Given the description of an element on the screen output the (x, y) to click on. 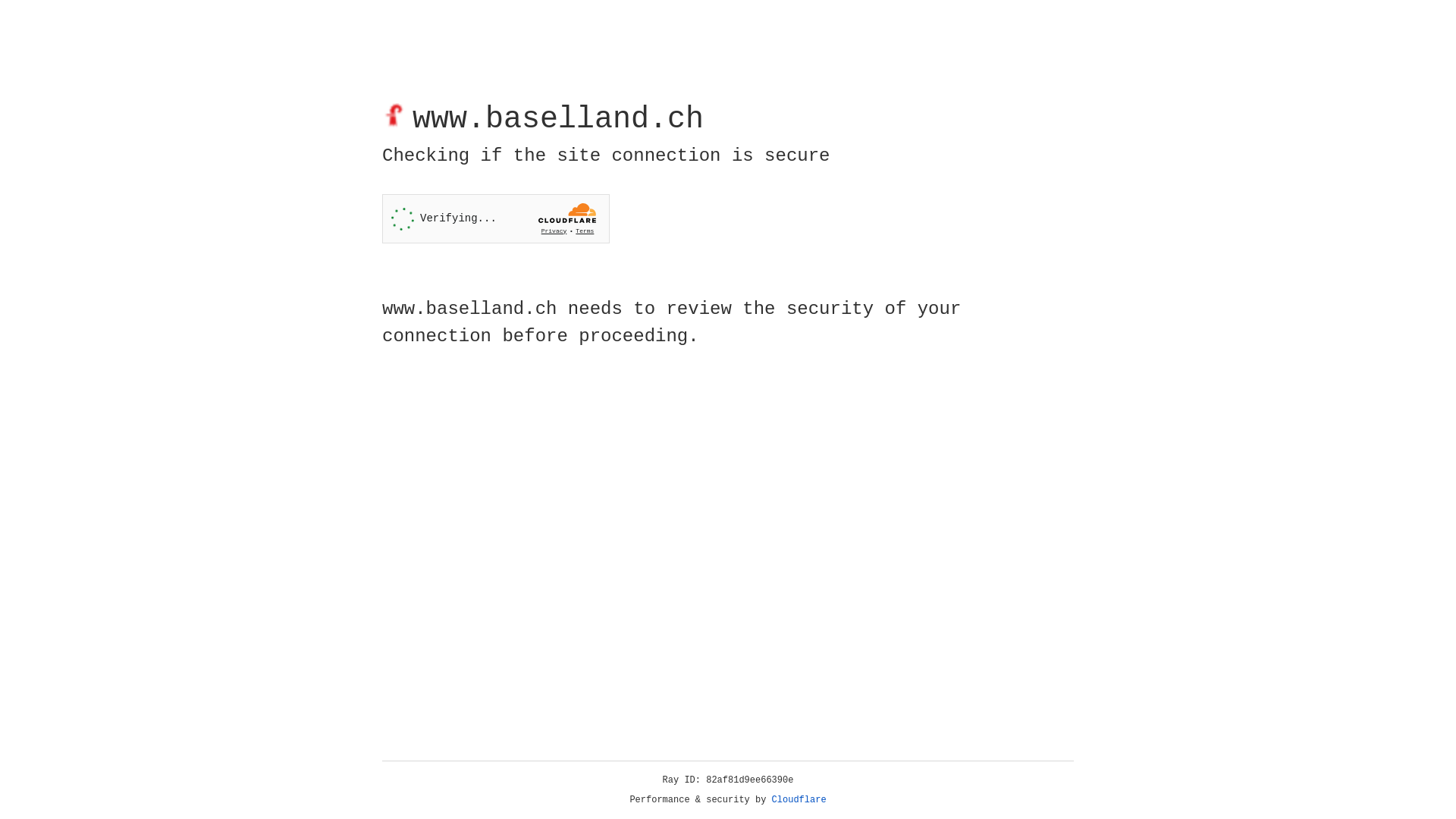
Widget containing a Cloudflare security challenge Element type: hover (495, 218)
Cloudflare Element type: text (798, 799)
